Given the description of an element on the screen output the (x, y) to click on. 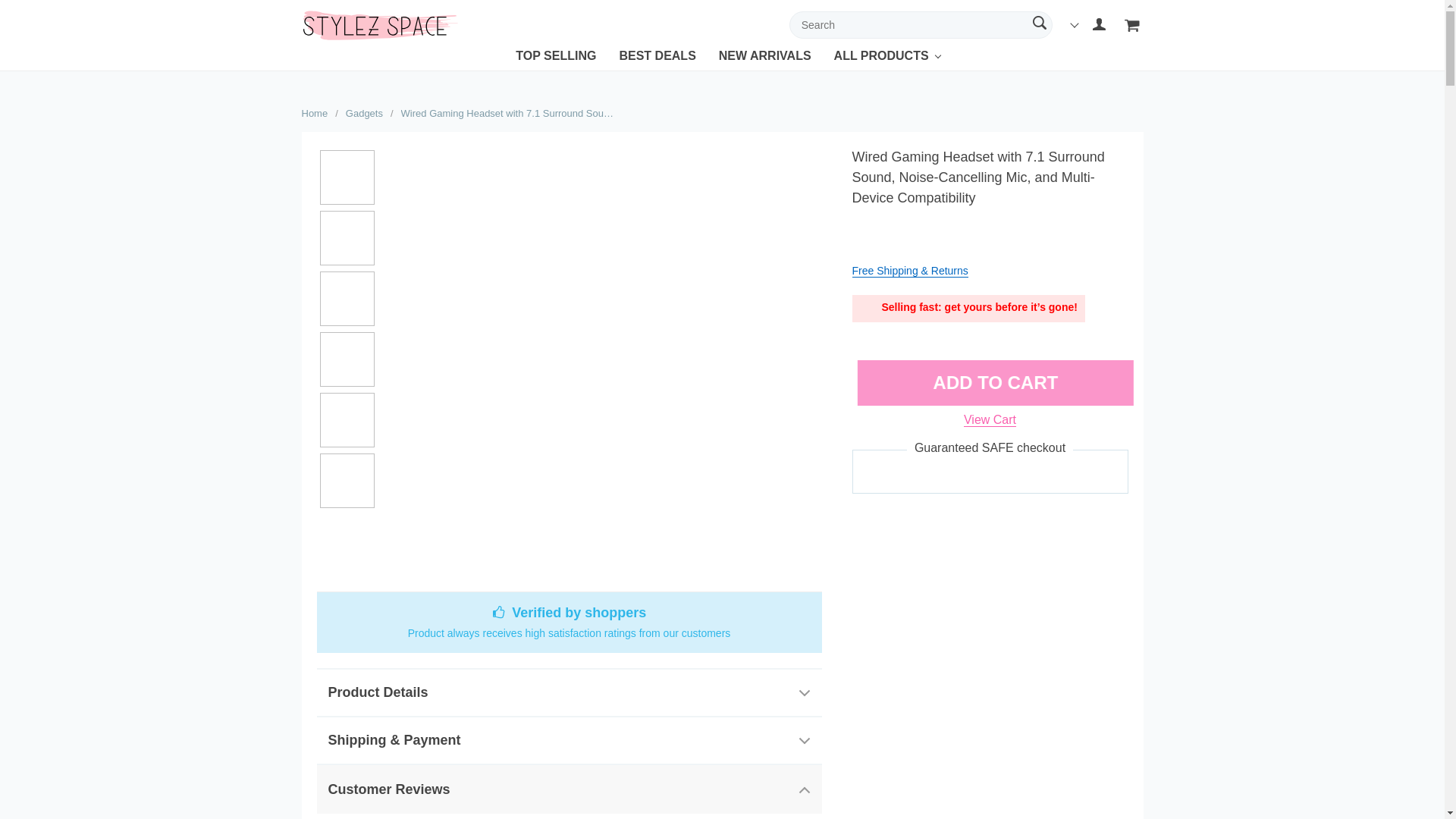
33958-d6c6c3.jpg (347, 176)
BEST DEALS (656, 59)
33958-97e594.jpg (347, 359)
33958-0a46be.jpg (347, 420)
TOP SELLING (555, 59)
33958-14ef67.jpg (347, 237)
33958-60b6ca.jpg (347, 298)
ALL PRODUCTS (881, 59)
33958-3dbcb4.jpg (347, 480)
NEW ARRIVALS (764, 59)
